Given the description of an element on the screen output the (x, y) to click on. 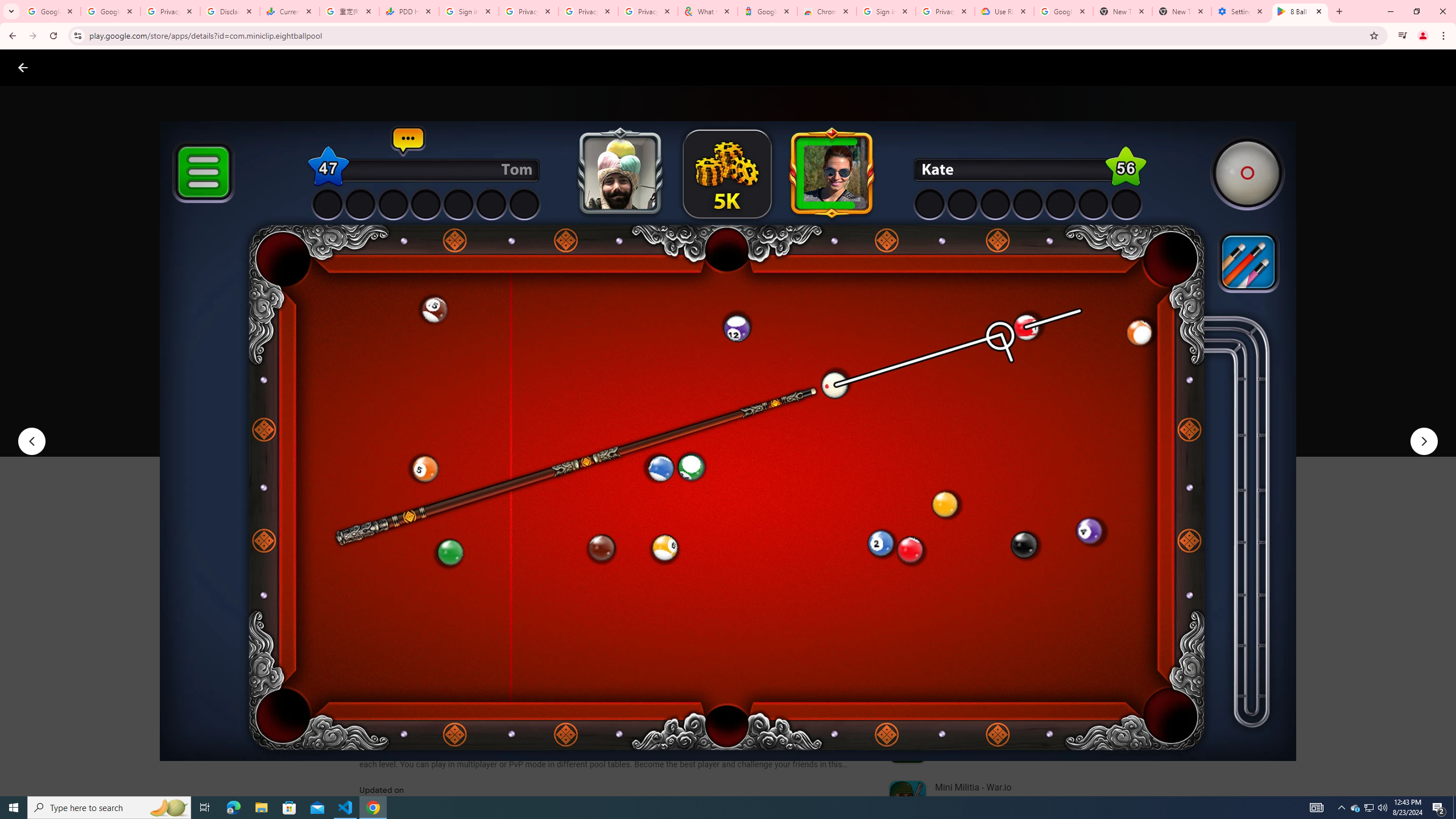
Miniclip.com (386, 333)
See more information on More by Miniclip.com (1029, 539)
Scroll Next (848, 563)
Play trailer (1062, 423)
